Given the description of an element on the screen output the (x, y) to click on. 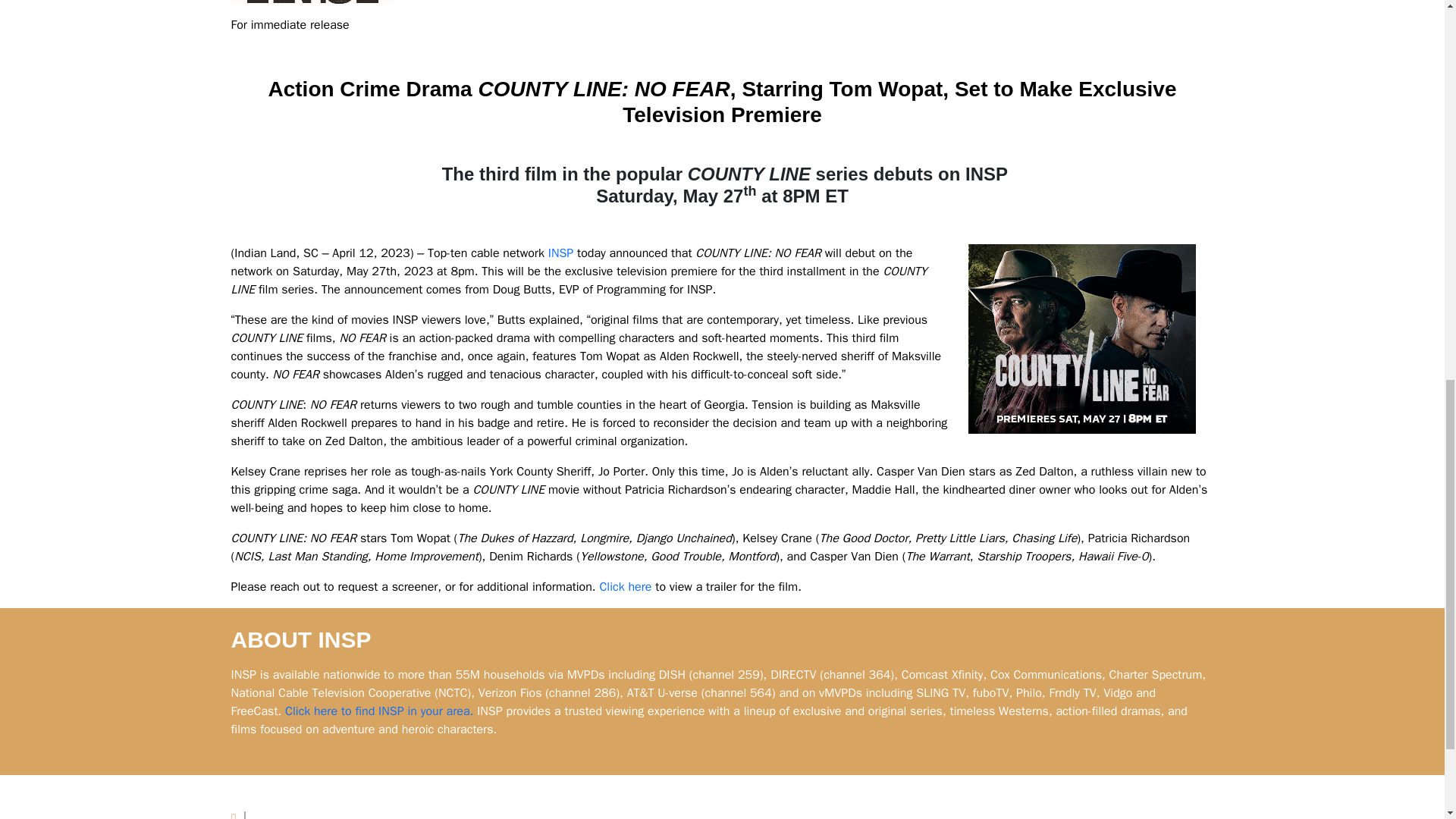
Click here to find INSP in your area. (379, 711)
Click here (624, 586)
INSP (560, 253)
